Given the description of an element on the screen output the (x, y) to click on. 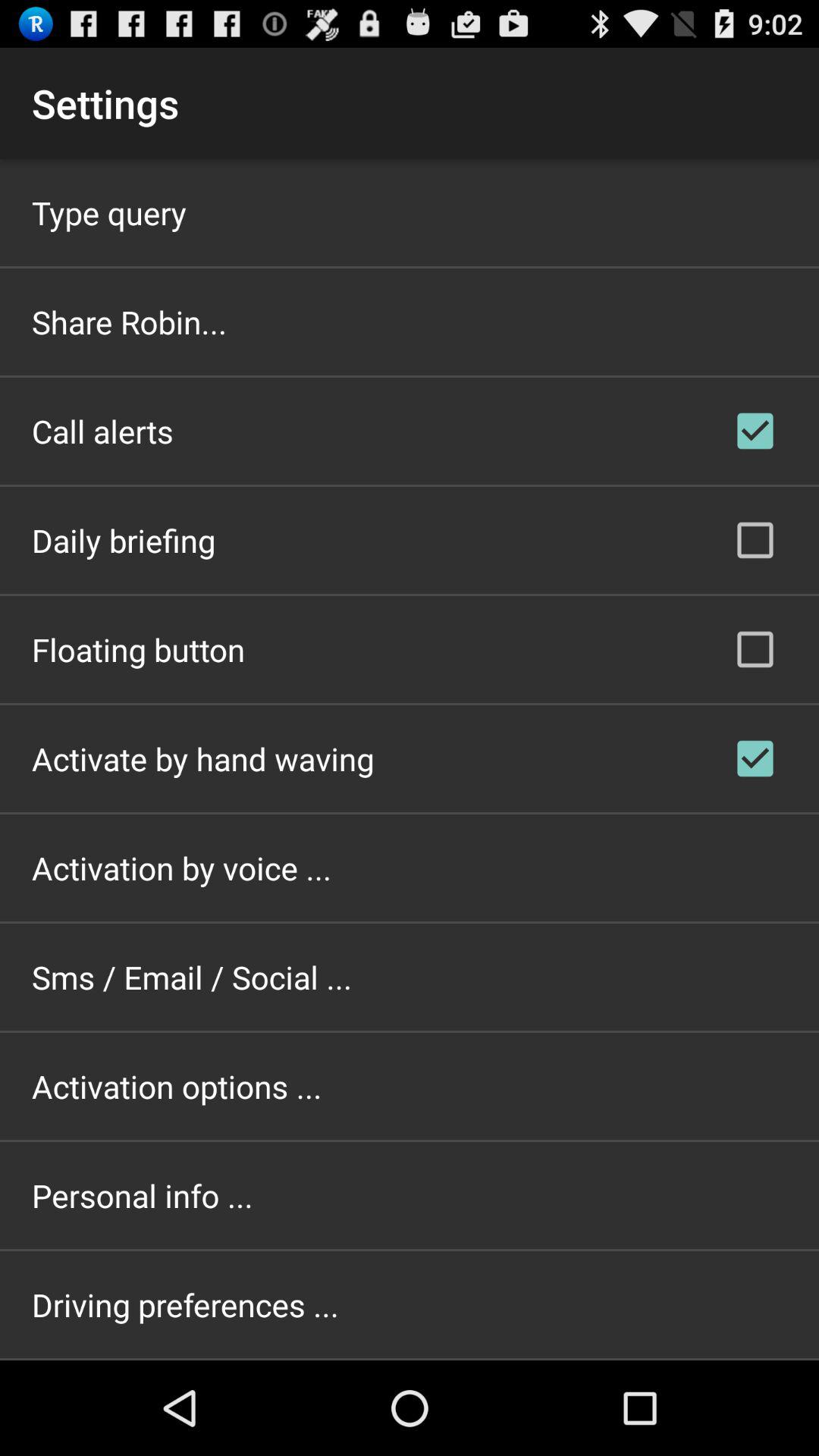
tap item below activate by hand icon (181, 867)
